Given the description of an element on the screen output the (x, y) to click on. 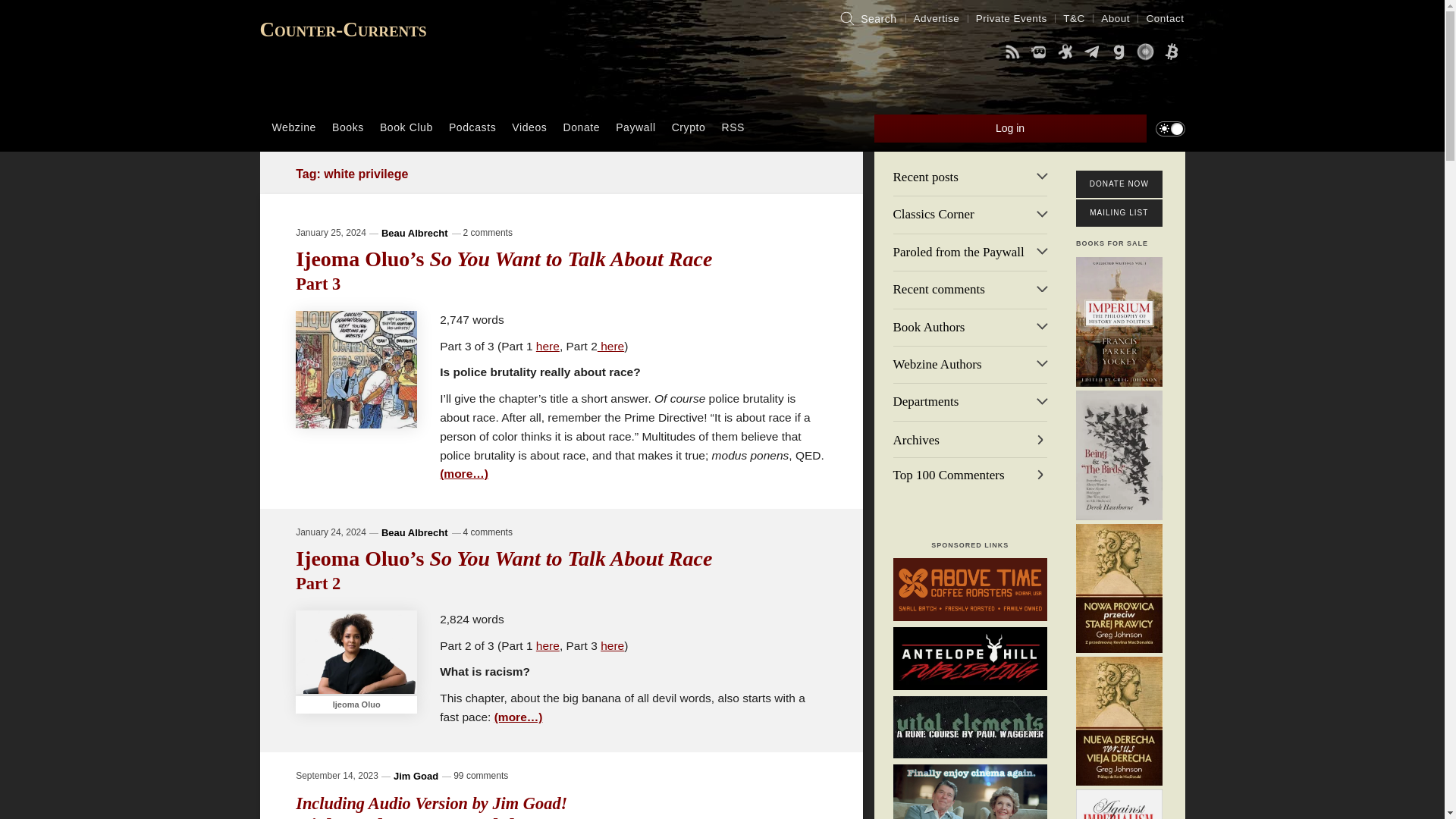
Videos (529, 126)
Log in (1010, 128)
Advertise (936, 18)
About (1115, 18)
Rss Feed (1012, 54)
Search (866, 18)
Crypto (689, 126)
Counter-Currents (342, 29)
Book Club (405, 126)
Donate today! (1171, 54)
RSS (732, 126)
Webzine (294, 126)
Contact (1164, 18)
Paywall (635, 126)
Odysee (1065, 54)
